Given the description of an element on the screen output the (x, y) to click on. 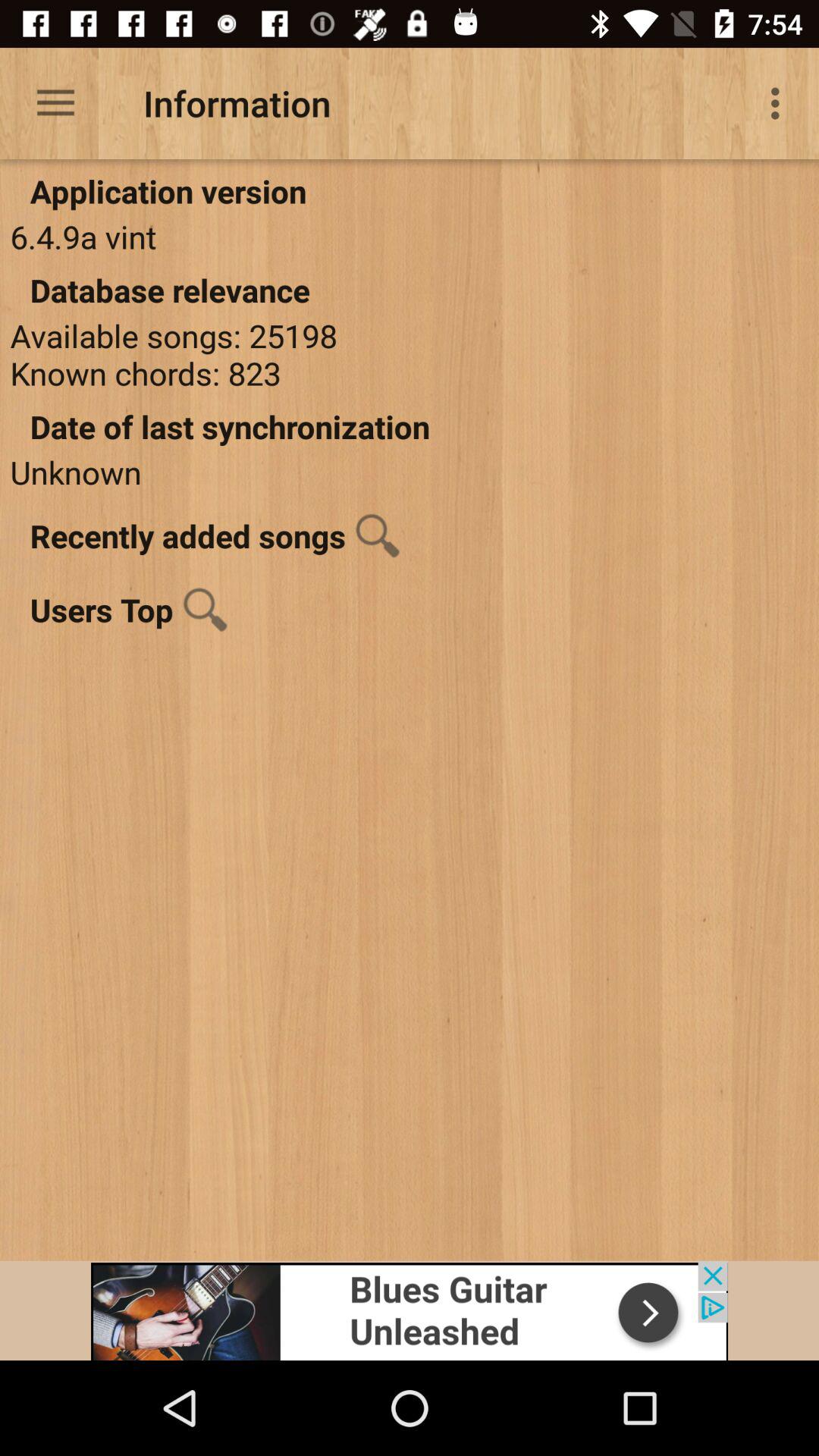
open advertisement (409, 1310)
